Given the description of an element on the screen output the (x, y) to click on. 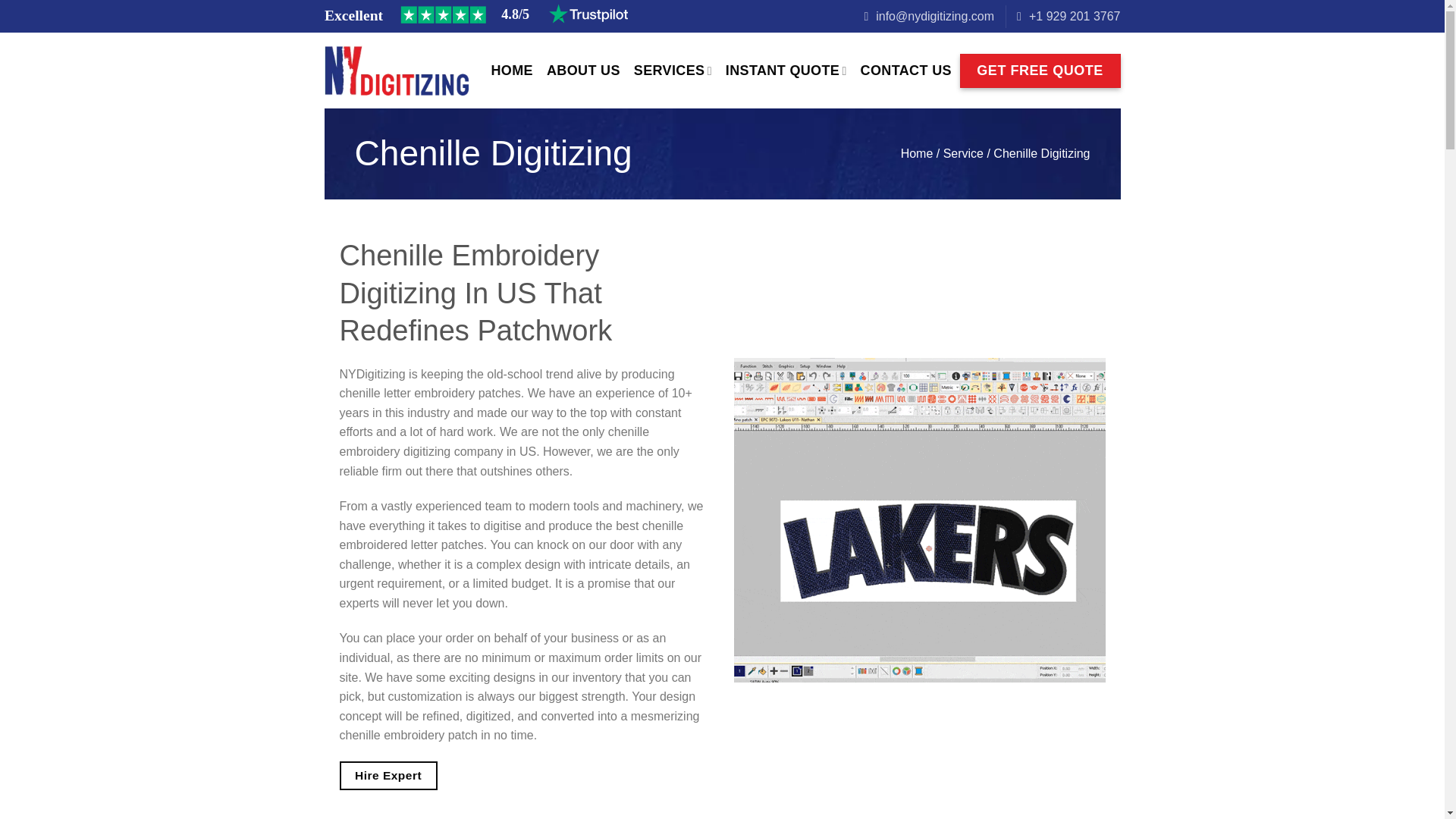
CONTACT US (906, 70)
SERVICES (672, 70)
GET FREE QUOTE (1040, 70)
ABOUT US (583, 70)
Hire Expert (388, 776)
chenlle (919, 519)
INSTANT QUOTE (786, 70)
HOME (512, 70)
NY Digitizing (396, 70)
